Given the description of an element on the screen output the (x, y) to click on. 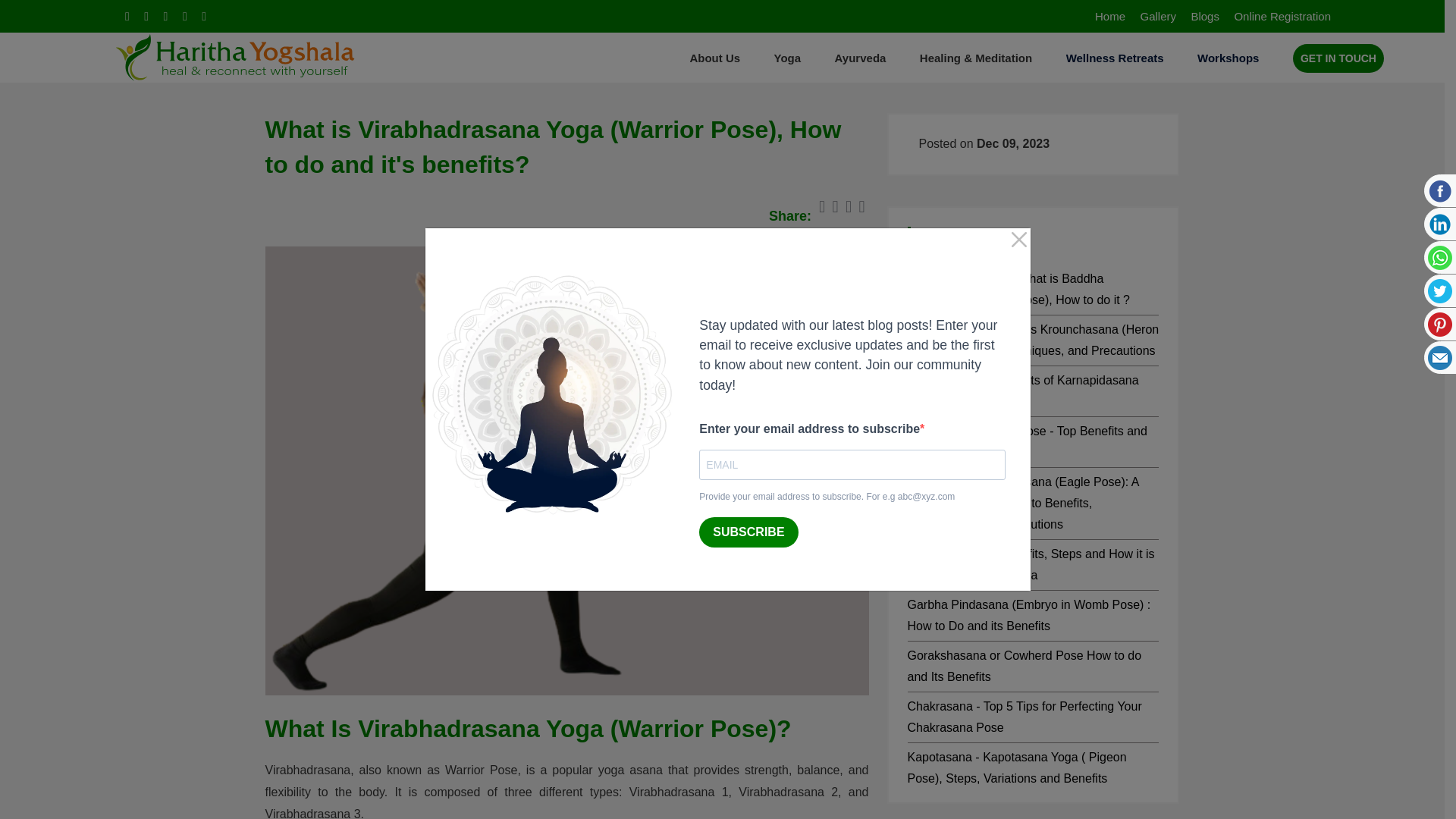
Gallery (1158, 15)
Blogs (1205, 15)
GET IN TOUCH (1338, 58)
Workshops (1227, 58)
Online Registration (1281, 15)
Wellness Retreats (1114, 58)
Ayurveda (860, 58)
Home (1109, 15)
About Us (713, 58)
